Given the description of an element on the screen output the (x, y) to click on. 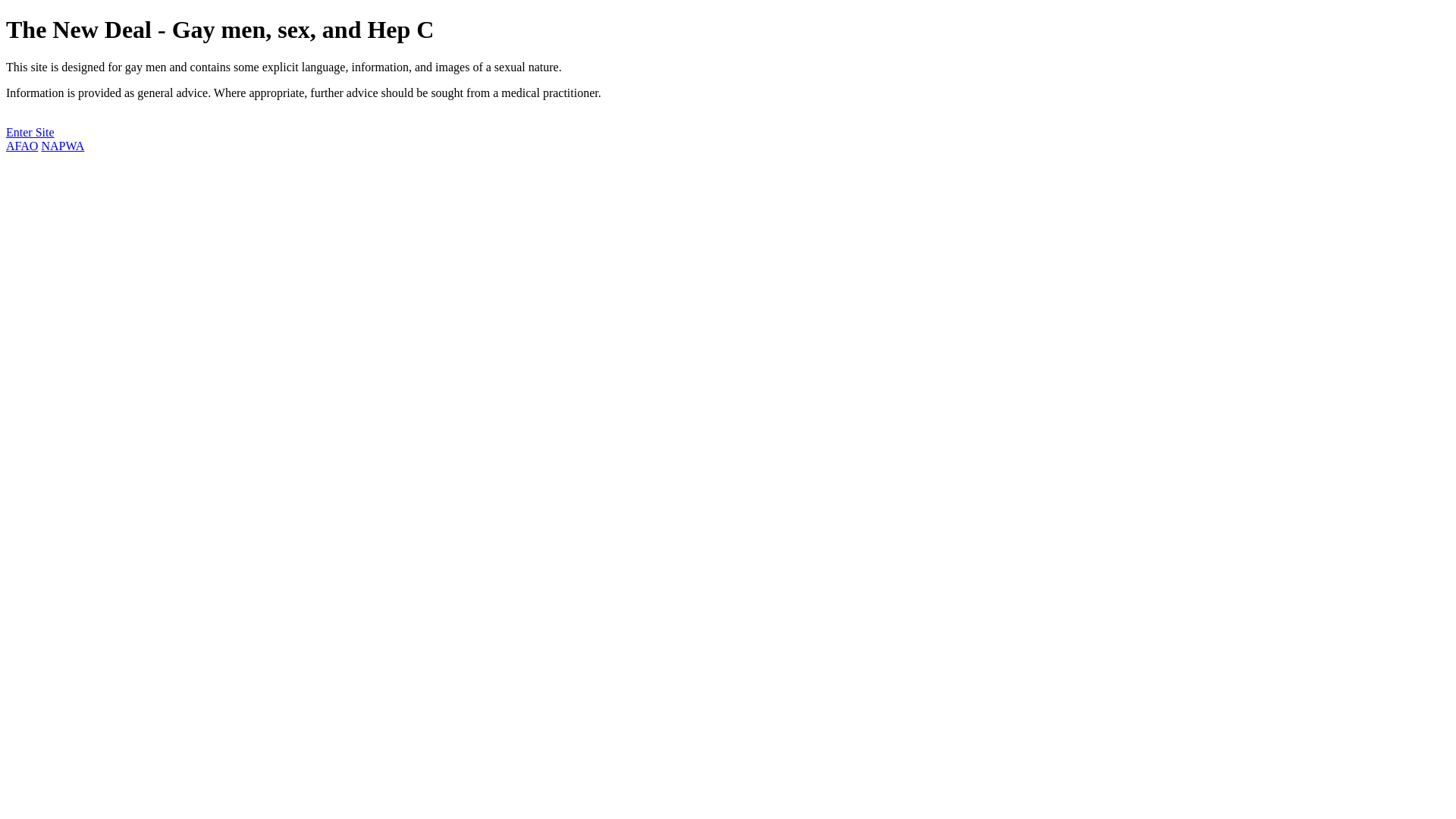
NAPWA Element type: text (62, 145)
AFAO Element type: text (21, 145)
Enter Site Element type: text (30, 131)
